Given the description of an element on the screen output the (x, y) to click on. 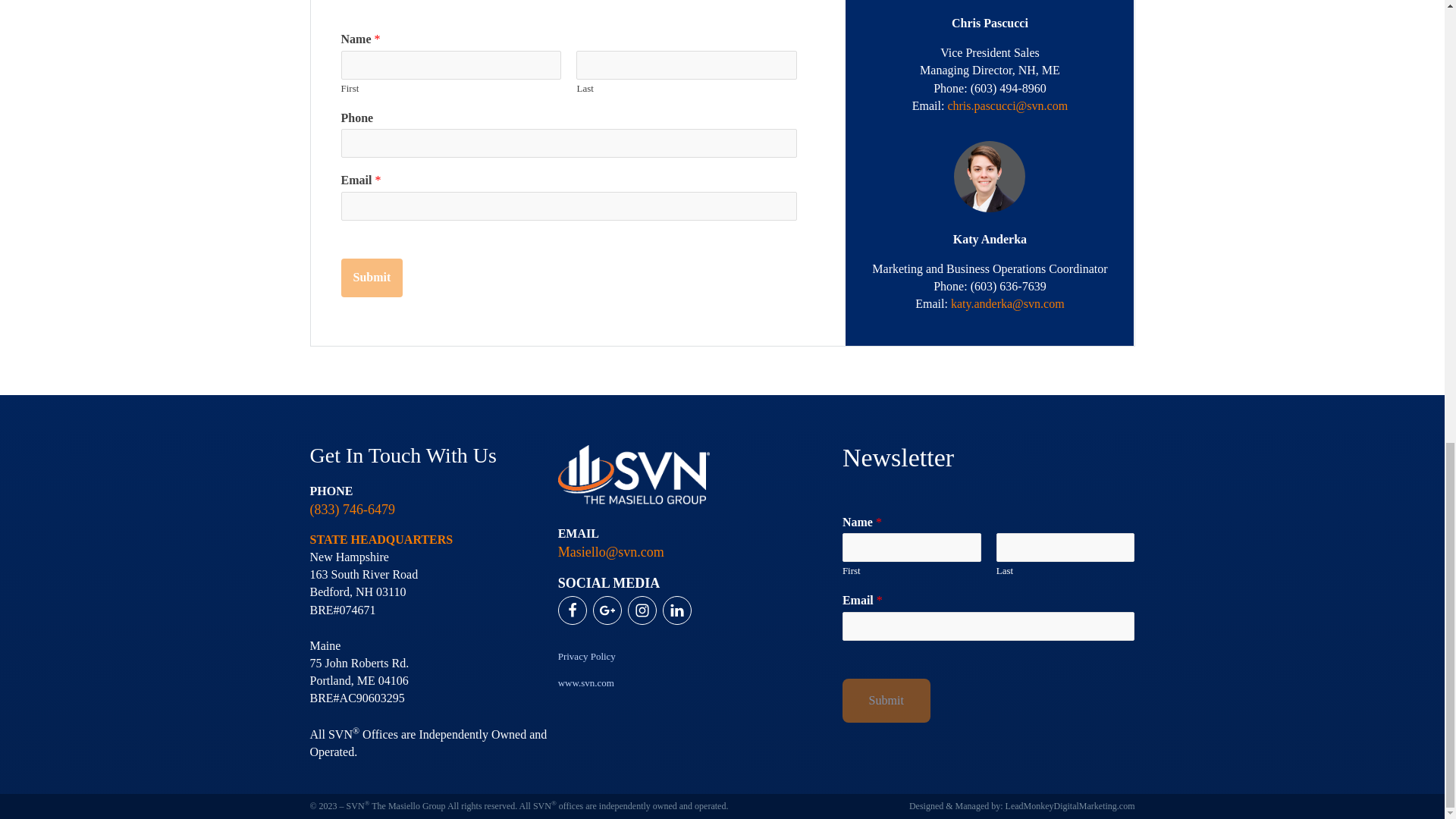
Submit (371, 277)
